Given the description of an element on the screen output the (x, y) to click on. 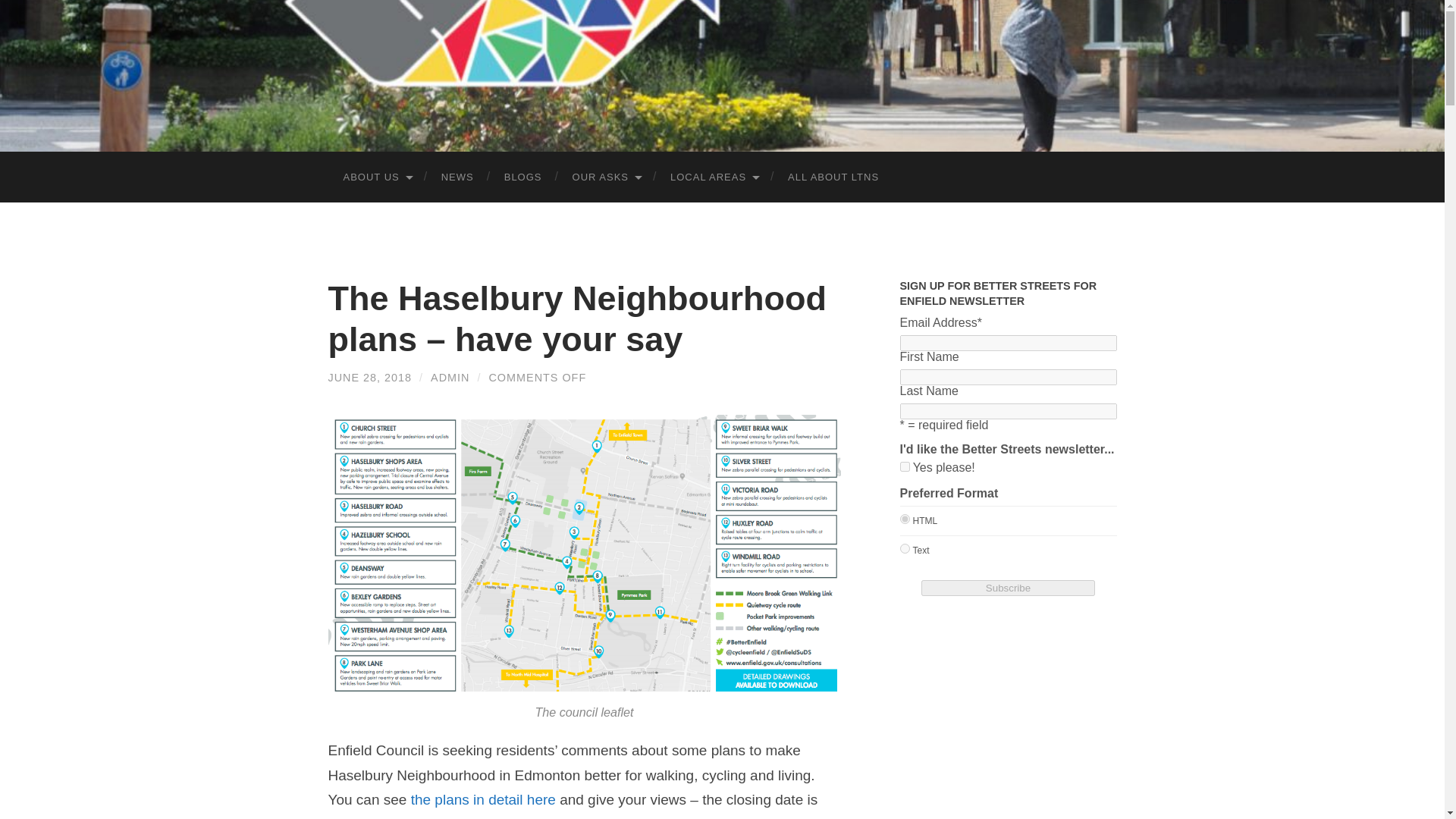
Posts by admin (449, 377)
Yes please! (903, 466)
ALL ABOUT LTNS (833, 176)
Subscribe (1007, 587)
BLOGS (523, 176)
JUNE 28, 2018 (369, 377)
the plans in detail here (483, 799)
ABOUT US (376, 176)
text (903, 548)
NEWS (457, 176)
OUR ASKS (606, 176)
html (903, 519)
LOCAL AREAS (714, 176)
ADMIN (449, 377)
